Given the description of an element on the screen output the (x, y) to click on. 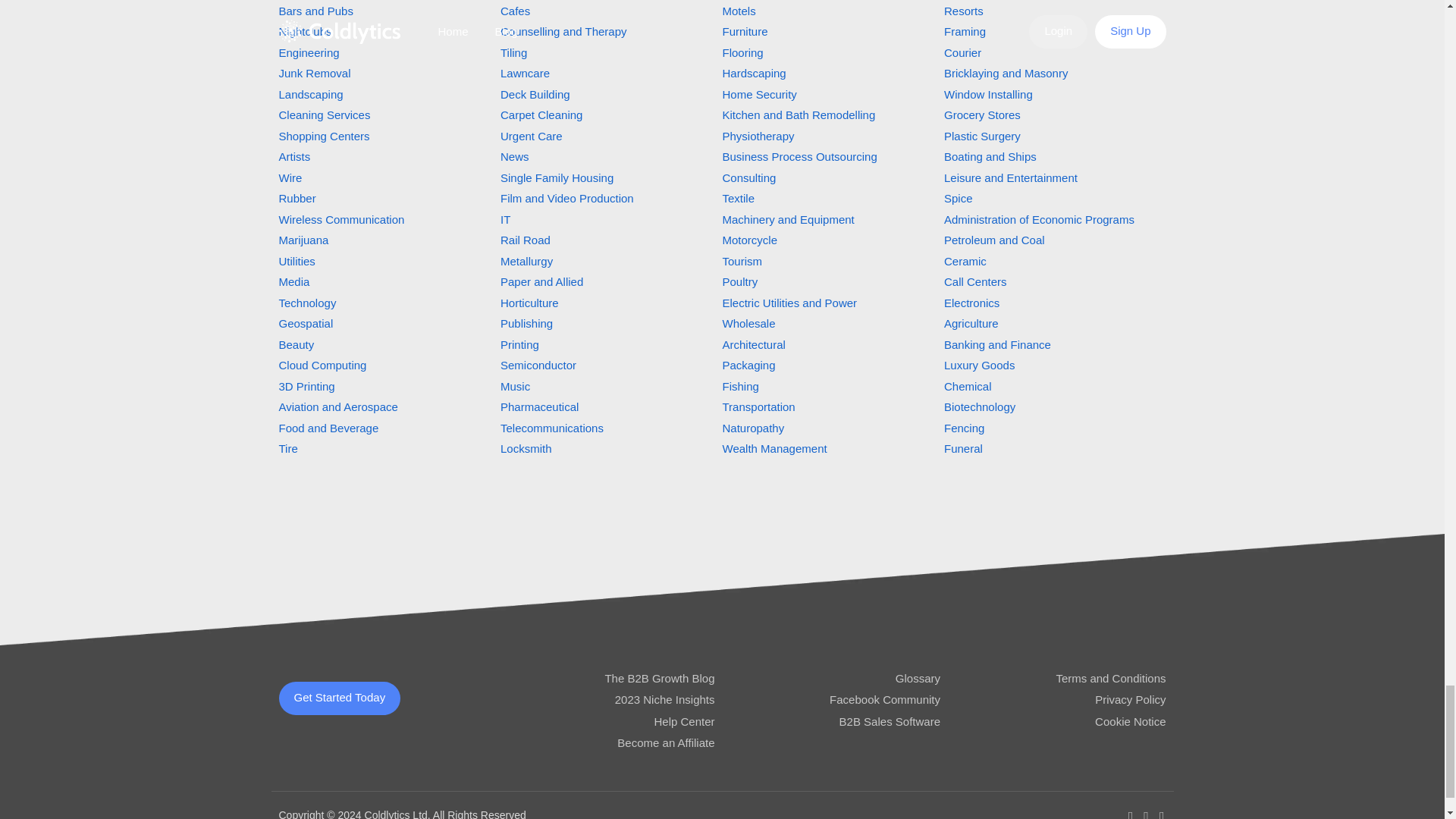
Bars and Pubs (316, 10)
Motels (738, 10)
Resorts (963, 10)
Counselling and Therapy (563, 31)
Cafes (514, 10)
Framing (964, 31)
Nightclubs (305, 31)
Furniture (744, 31)
